Given the description of an element on the screen output the (x, y) to click on. 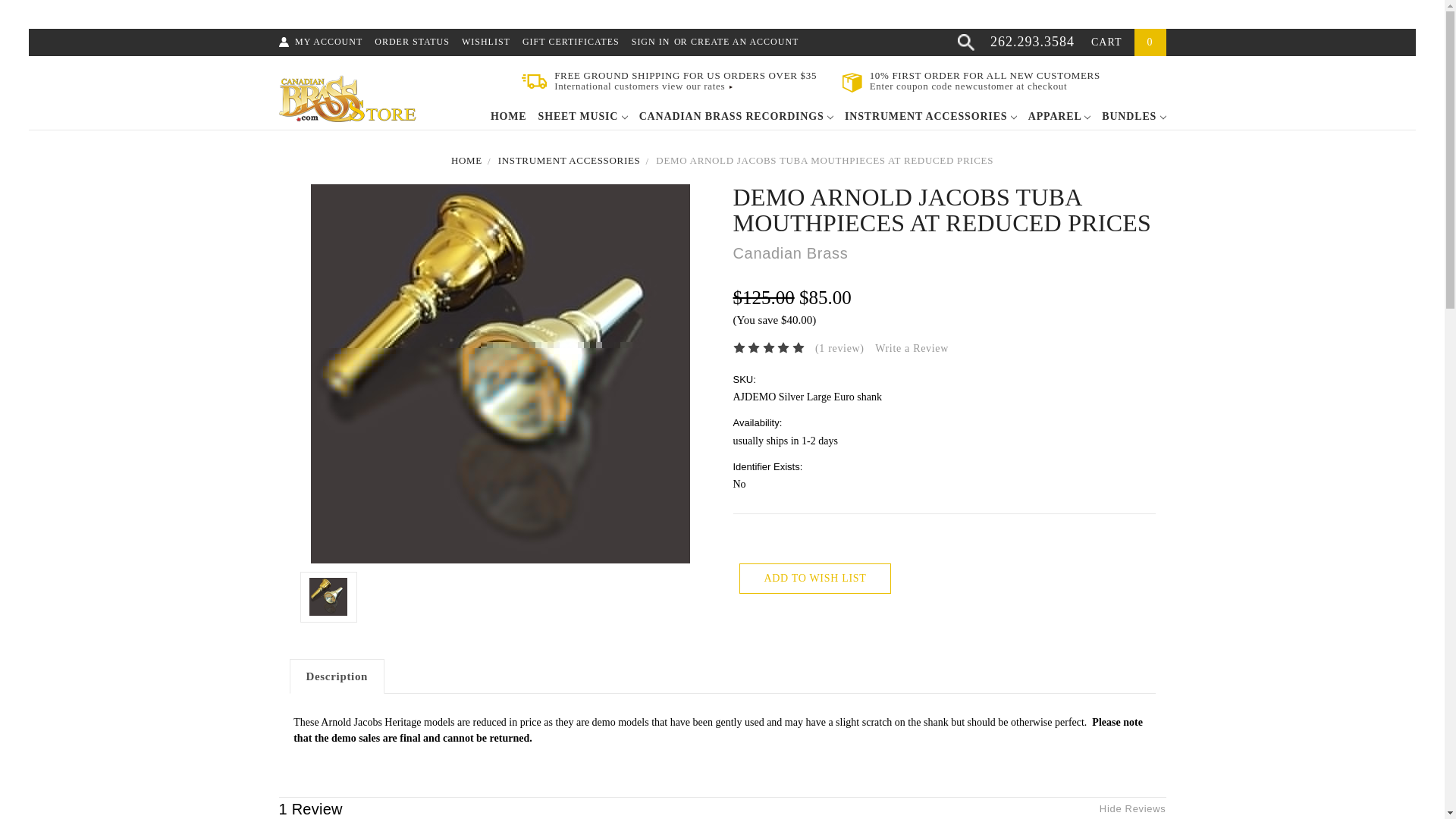
SHEET MUSIC (582, 118)
SIGN IN (650, 41)
GIFT CERTIFICATES (571, 41)
Demo Arnold Jacobs Tuba Mouthpieces at reduced prices (327, 596)
262.293.3584 (1032, 41)
MY ACCOUNT (328, 41)
CANADIAN BRASS RECORDINGS (735, 118)
HOME (508, 118)
ORDER STATUS (411, 41)
